Given the description of an element on the screen output the (x, y) to click on. 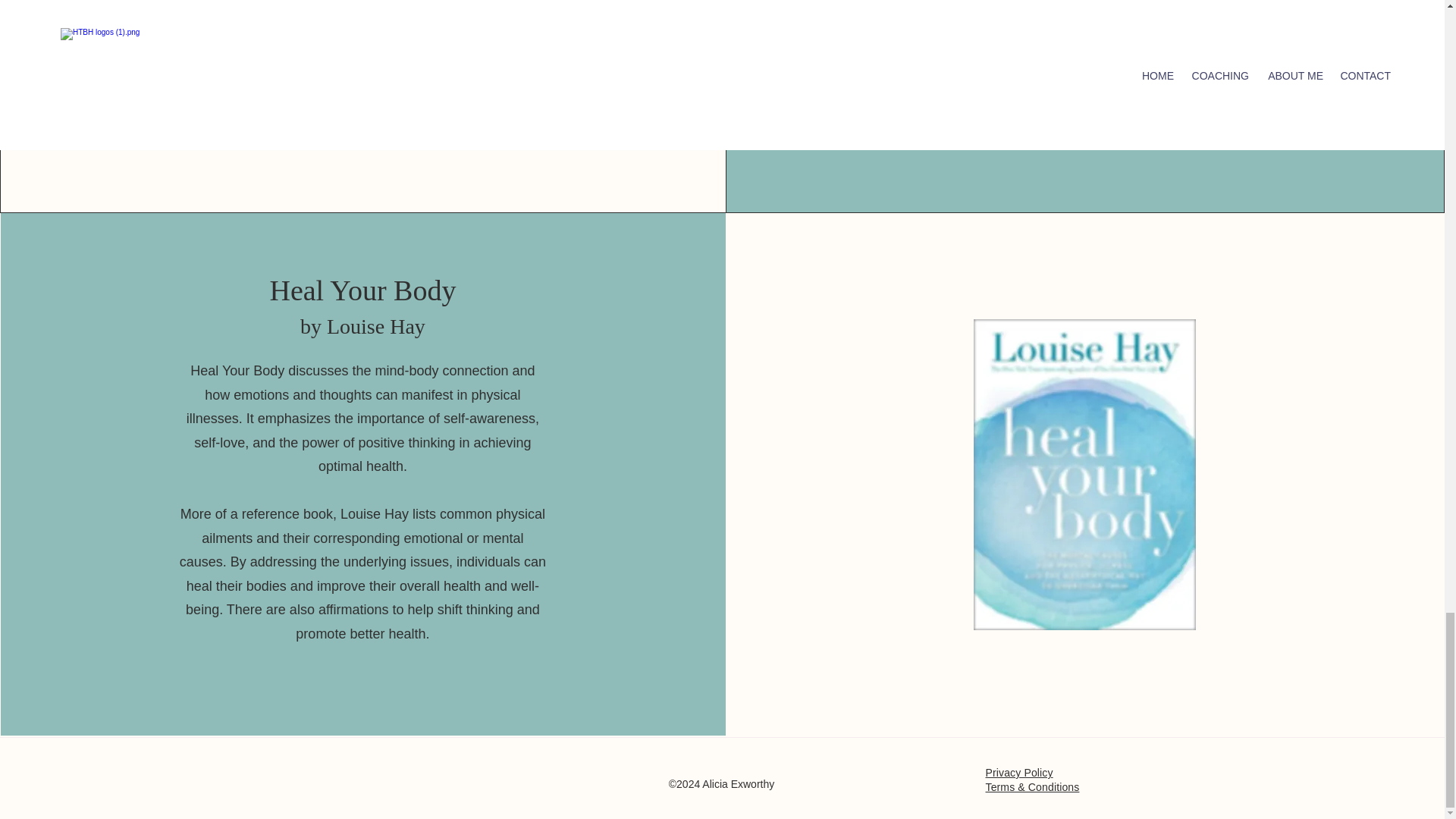
Privacy Policy (1018, 772)
